Given the description of an element on the screen output the (x, y) to click on. 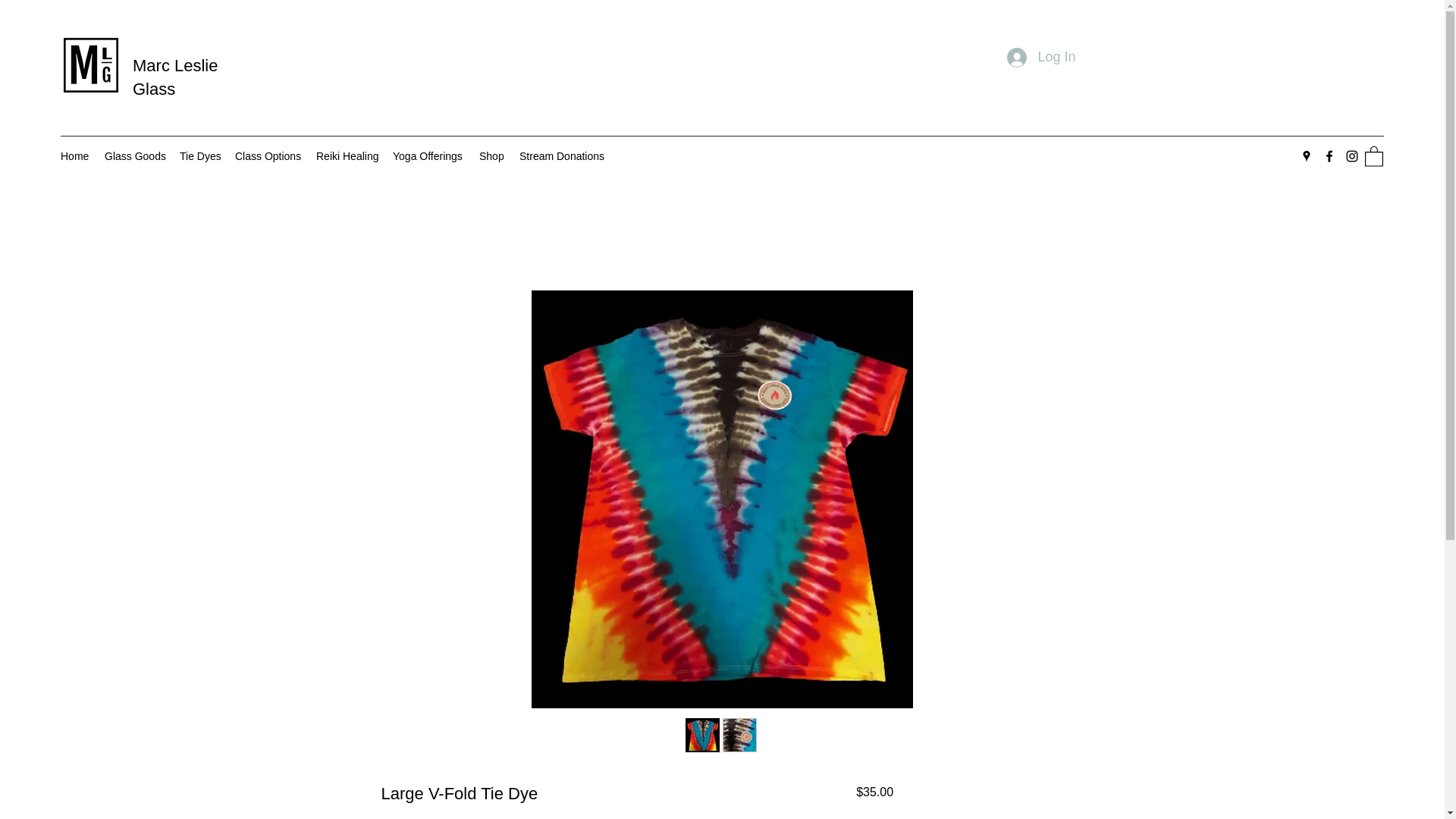
Log In (1040, 57)
Glass Goods (134, 155)
Tie Dyes (199, 155)
Yoga Offerings (428, 155)
Reiki Healing (346, 155)
Stream Donations (561, 155)
Marc Leslie Glass (174, 77)
Home (74, 155)
Class Options (267, 155)
Shop (491, 155)
